Given the description of an element on the screen output the (x, y) to click on. 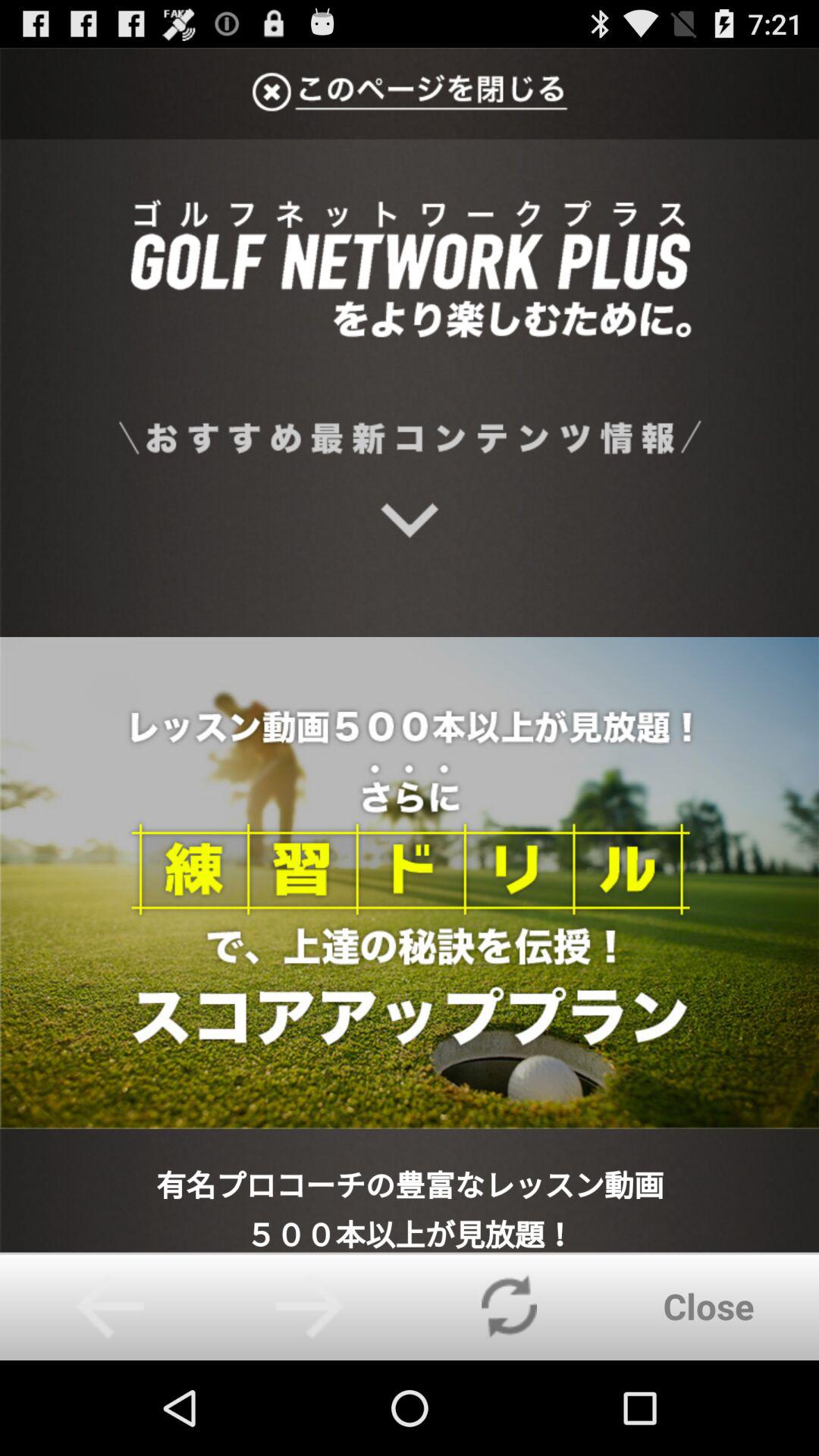
select the image (409, 649)
